Given the description of an element on the screen output the (x, y) to click on. 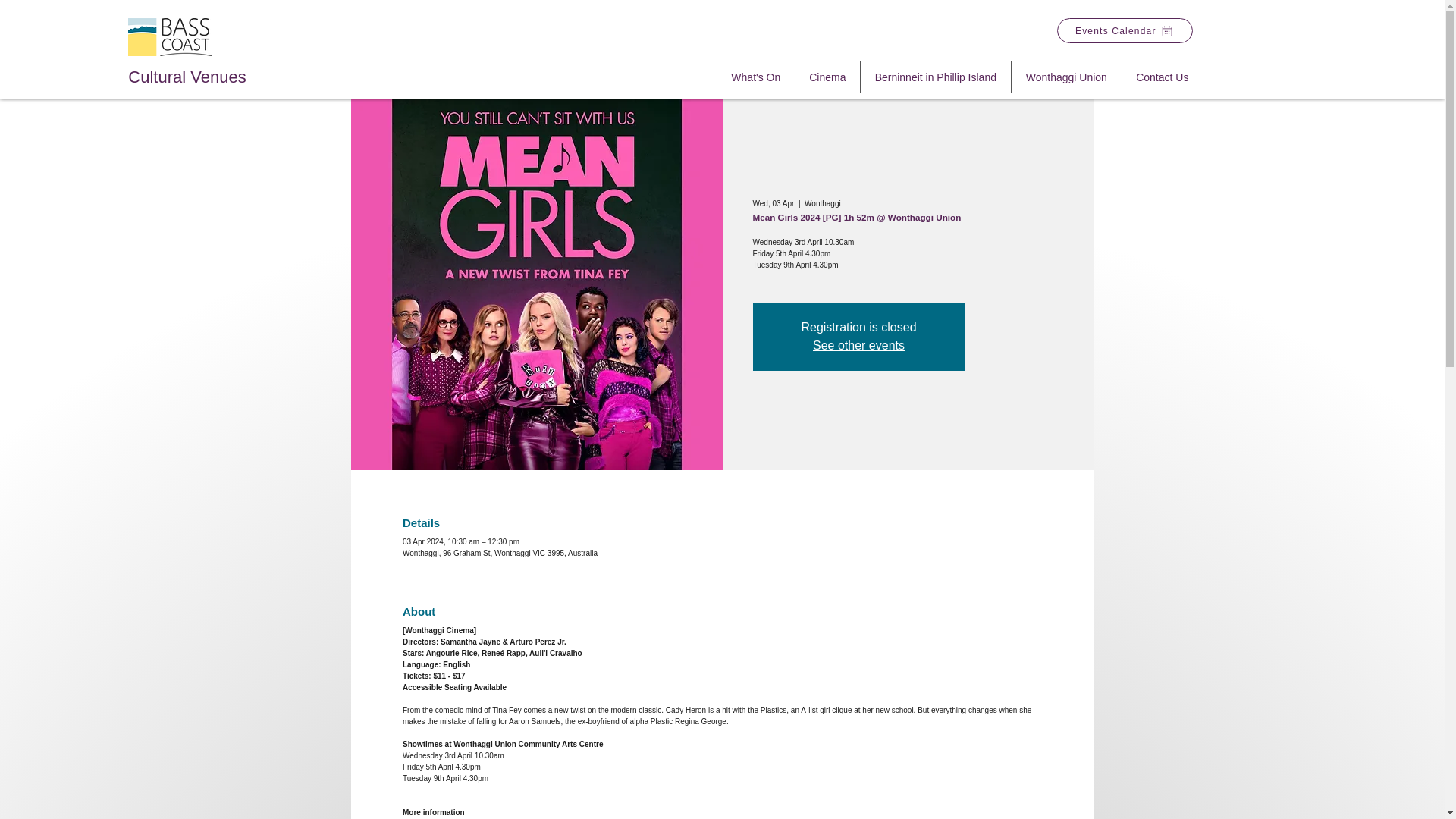
Berninneit in Phillip Island (935, 77)
Cinema (827, 77)
Events Calendar (1124, 30)
See other events (858, 345)
Contact Us (1162, 77)
Wonthaggi Union (1066, 77)
What's On (755, 77)
Cultural Venues (187, 76)
